Given the description of an element on the screen output the (x, y) to click on. 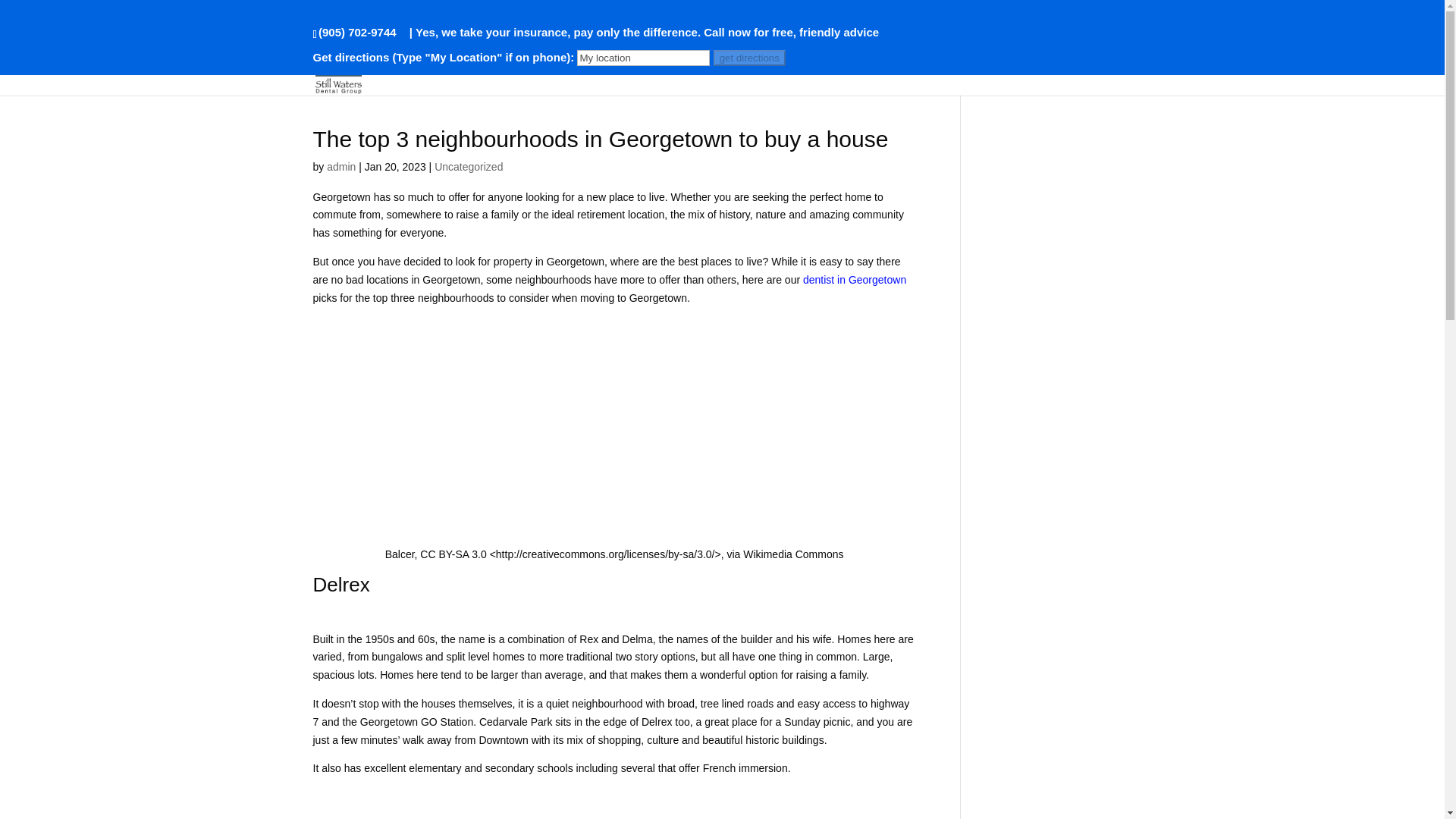
Services (748, 74)
Uncategorized (467, 166)
get directions (749, 57)
admin (340, 166)
dentist in Georgetown (854, 279)
Reviews (996, 74)
Contact (1109, 74)
My location (643, 57)
Patients (920, 74)
About Us (834, 74)
